Given the description of an element on the screen output the (x, y) to click on. 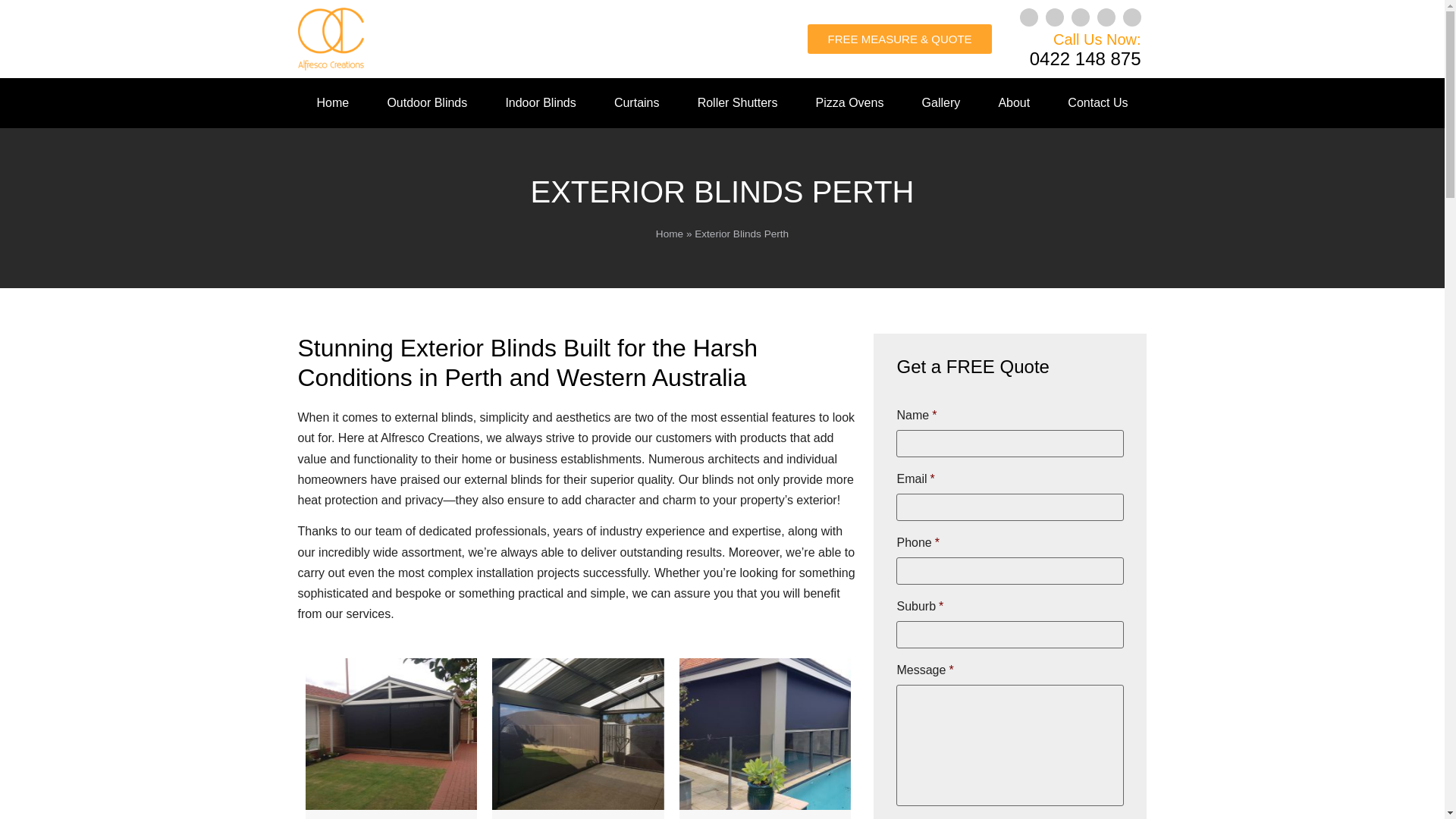
Gallery (940, 102)
Outdoor Blinds (427, 102)
Roller Shutters (737, 102)
Curtains (636, 102)
0422 148 875 (1085, 58)
About (1013, 102)
Indoor Blinds (540, 102)
Pizza Ovens (849, 102)
Home (332, 102)
